Given the description of an element on the screen output the (x, y) to click on. 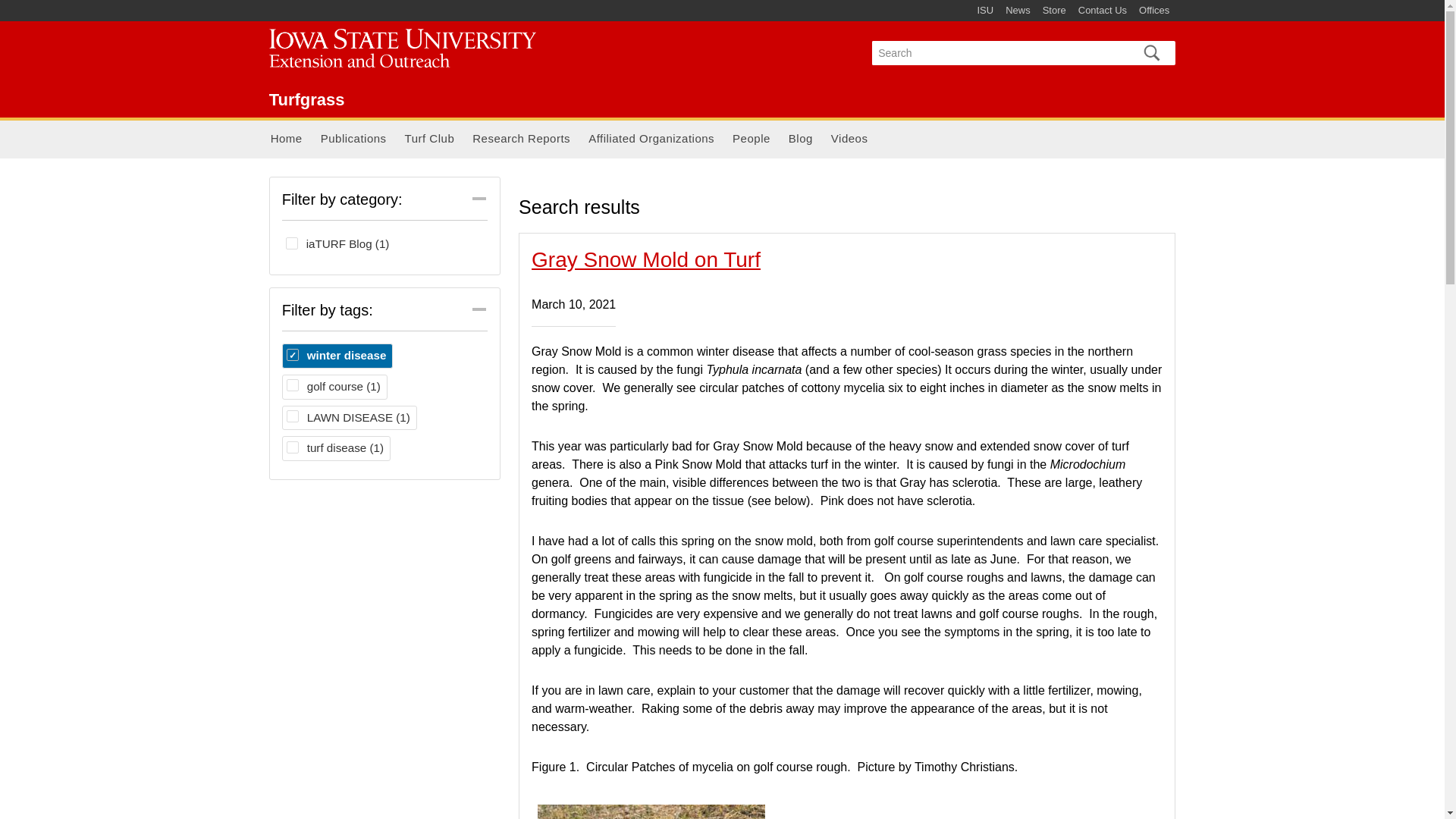
Enter the terms you wish to search for. (998, 52)
News (1017, 10)
Store (1053, 10)
Turf Club (430, 139)
Turfgrass (411, 50)
Blog (800, 139)
Turfgrass (307, 99)
People (750, 139)
ISU (984, 10)
